Given the description of an element on the screen output the (x, y) to click on. 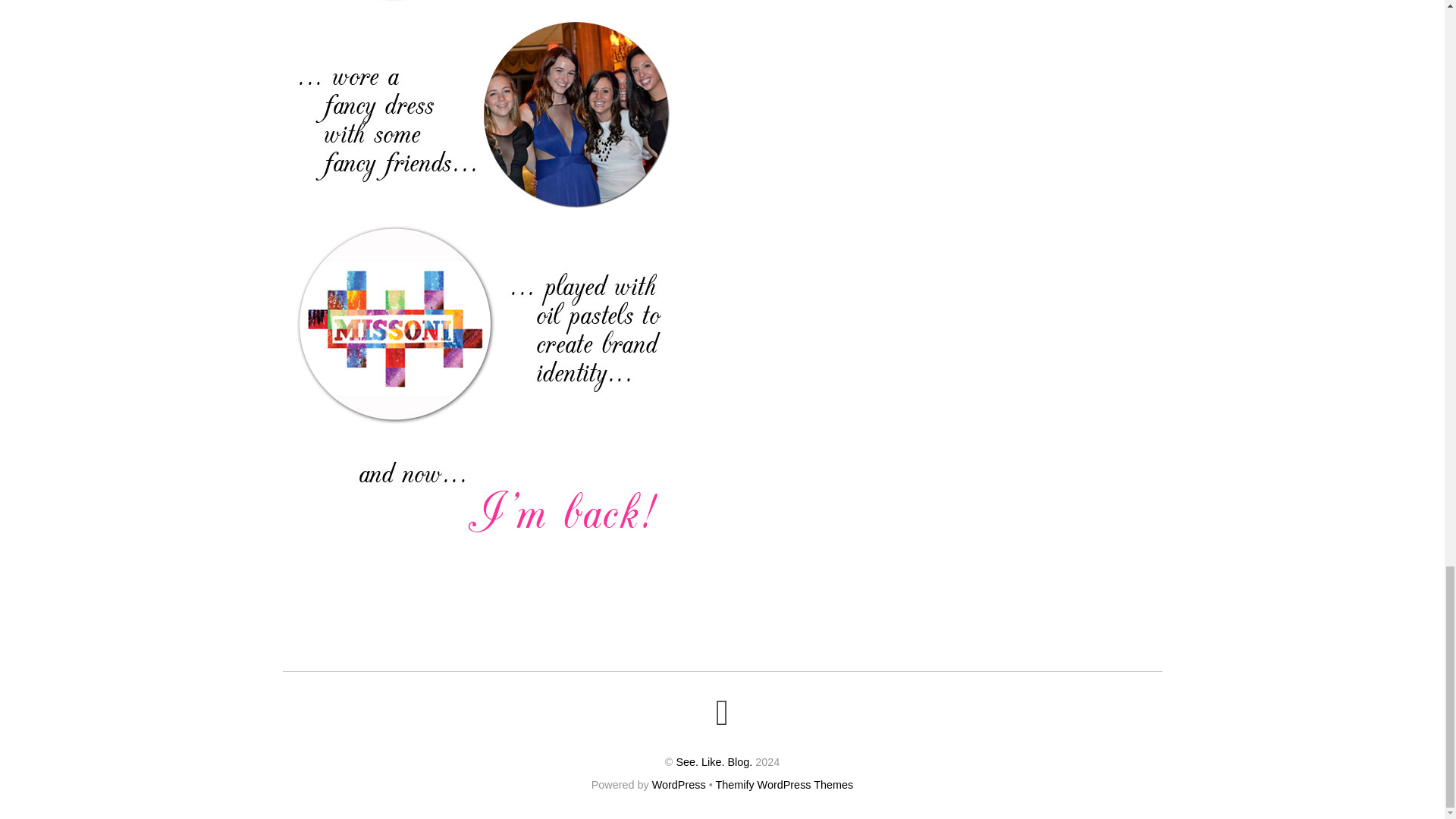
See. Like. Blog. (713, 761)
Themify WordPress Themes (783, 784)
WordPress (679, 784)
